Given the description of an element on the screen output the (x, y) to click on. 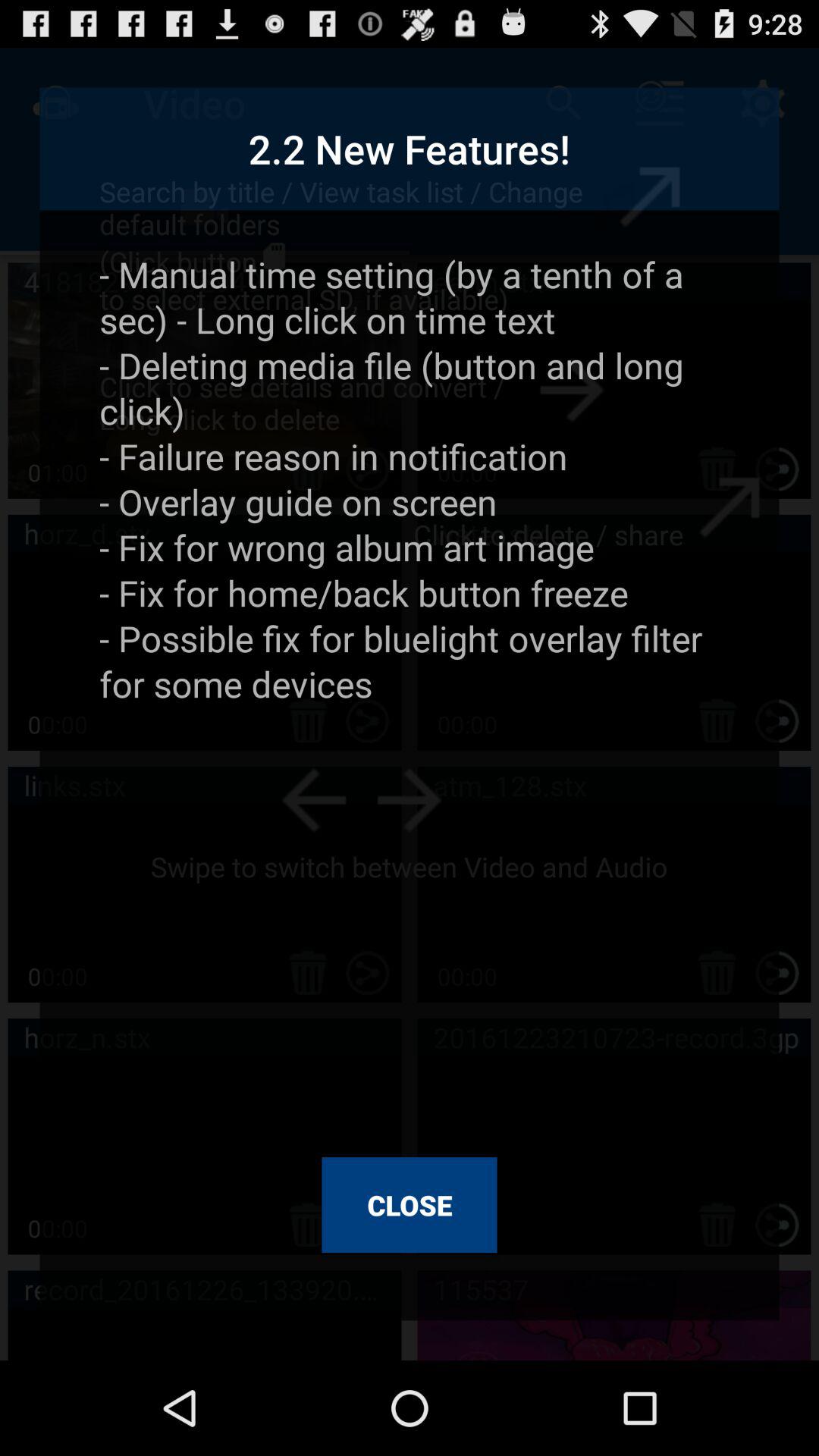
jump until close icon (409, 1204)
